Given the description of an element on the screen output the (x, y) to click on. 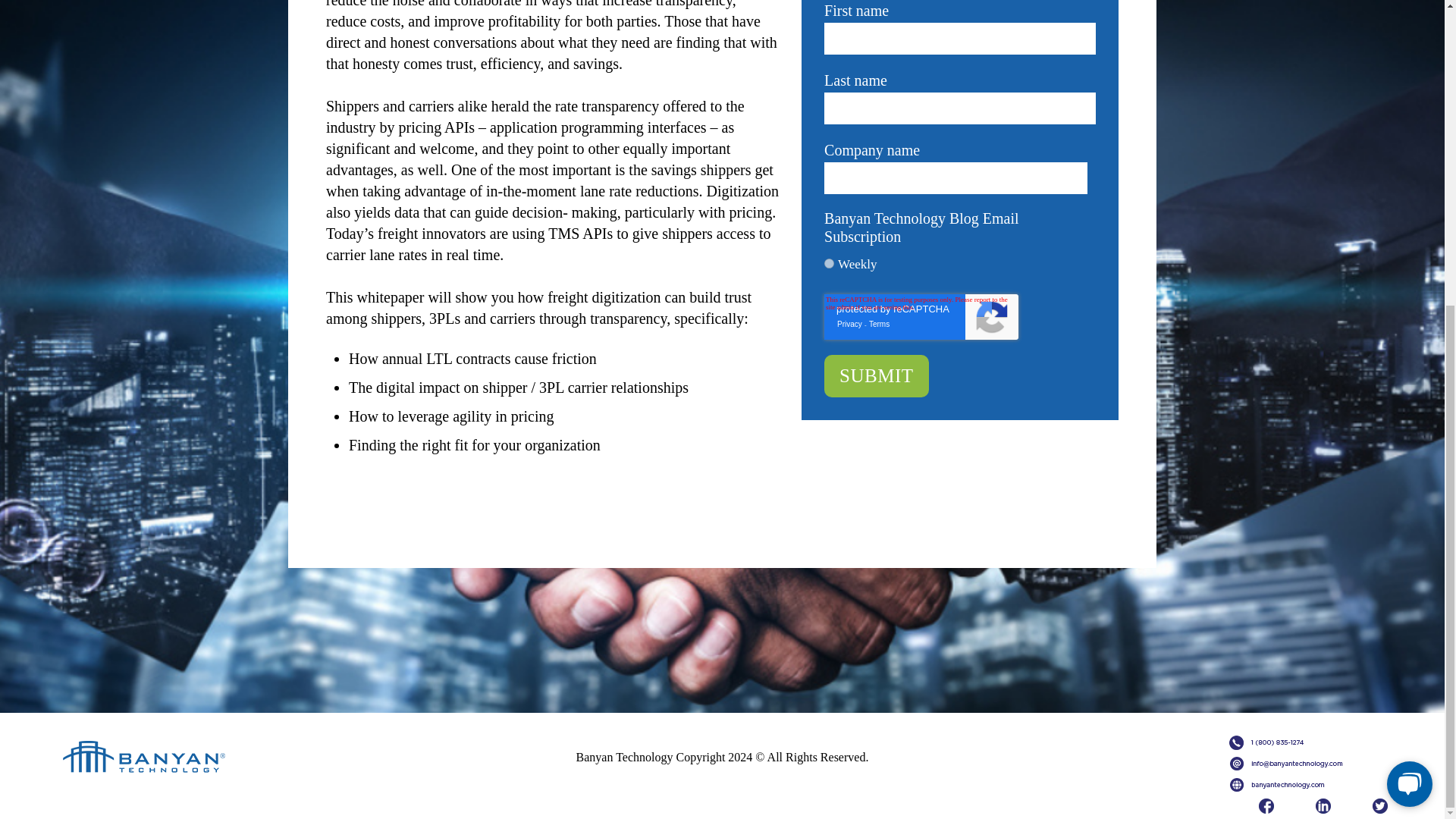
Banyan logo - HS landing page3 (117, 760)
Submit (876, 375)
weekly (829, 263)
Submit (876, 375)
reCAPTCHA (920, 316)
Facebook icon (1266, 806)
Twitter icon (1380, 806)
LinkedIn icon (1323, 806)
Landing page footer - icons email6 (1278, 763)
Landing page footer - icons web6 (1278, 784)
Landing page footer - icons phone6 (1278, 742)
